Given the description of an element on the screen output the (x, y) to click on. 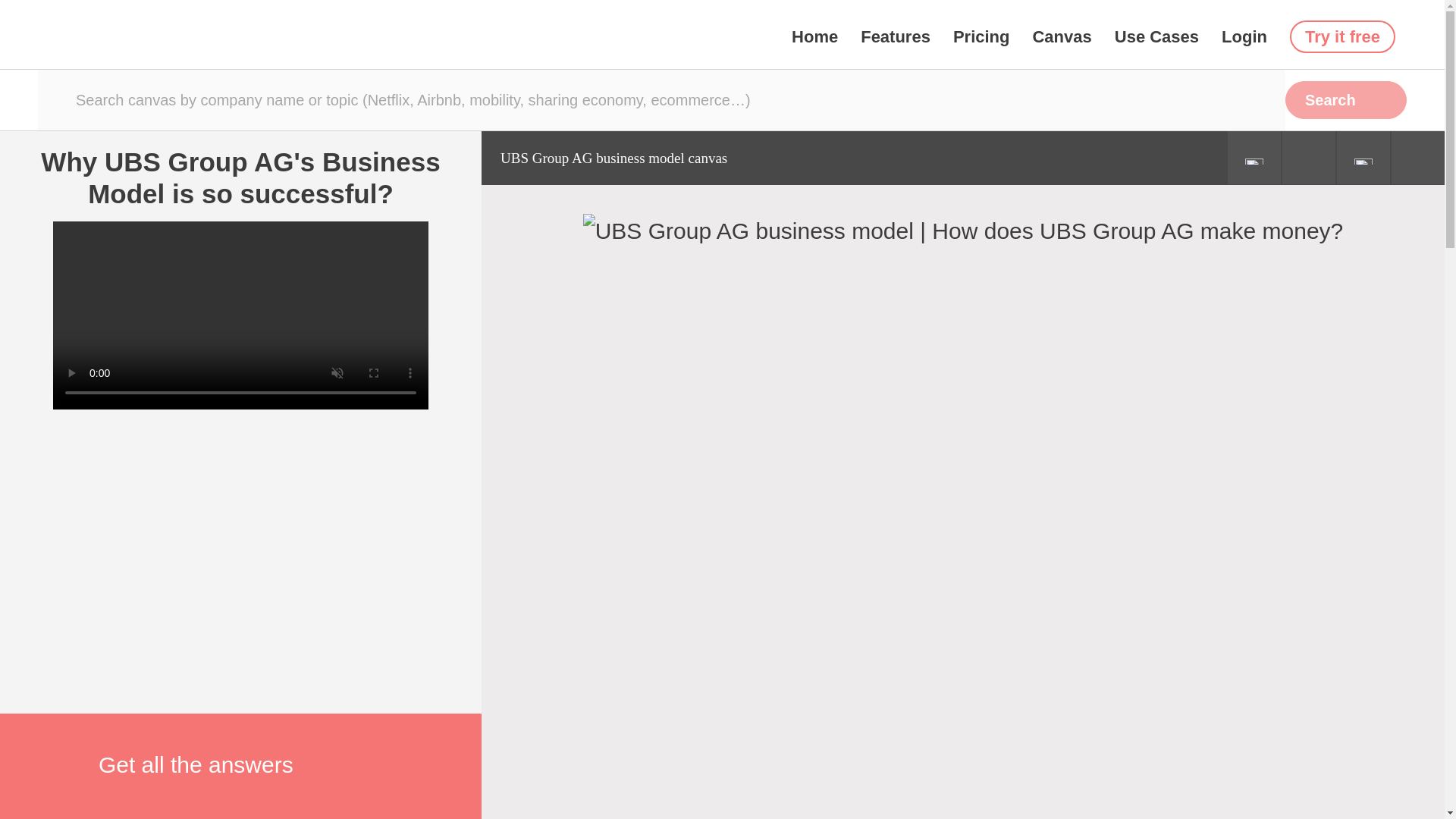
Try it free (1342, 36)
Search (1345, 99)
Pricing (981, 36)
UBS Group AG business model canvas (613, 157)
Features (895, 36)
Login (1243, 36)
Canvas (1061, 36)
Search for: (661, 99)
Use Cases (1156, 36)
ubs-group-ag-business-model-canvas (963, 230)
Home (815, 36)
